Given the description of an element on the screen output the (x, y) to click on. 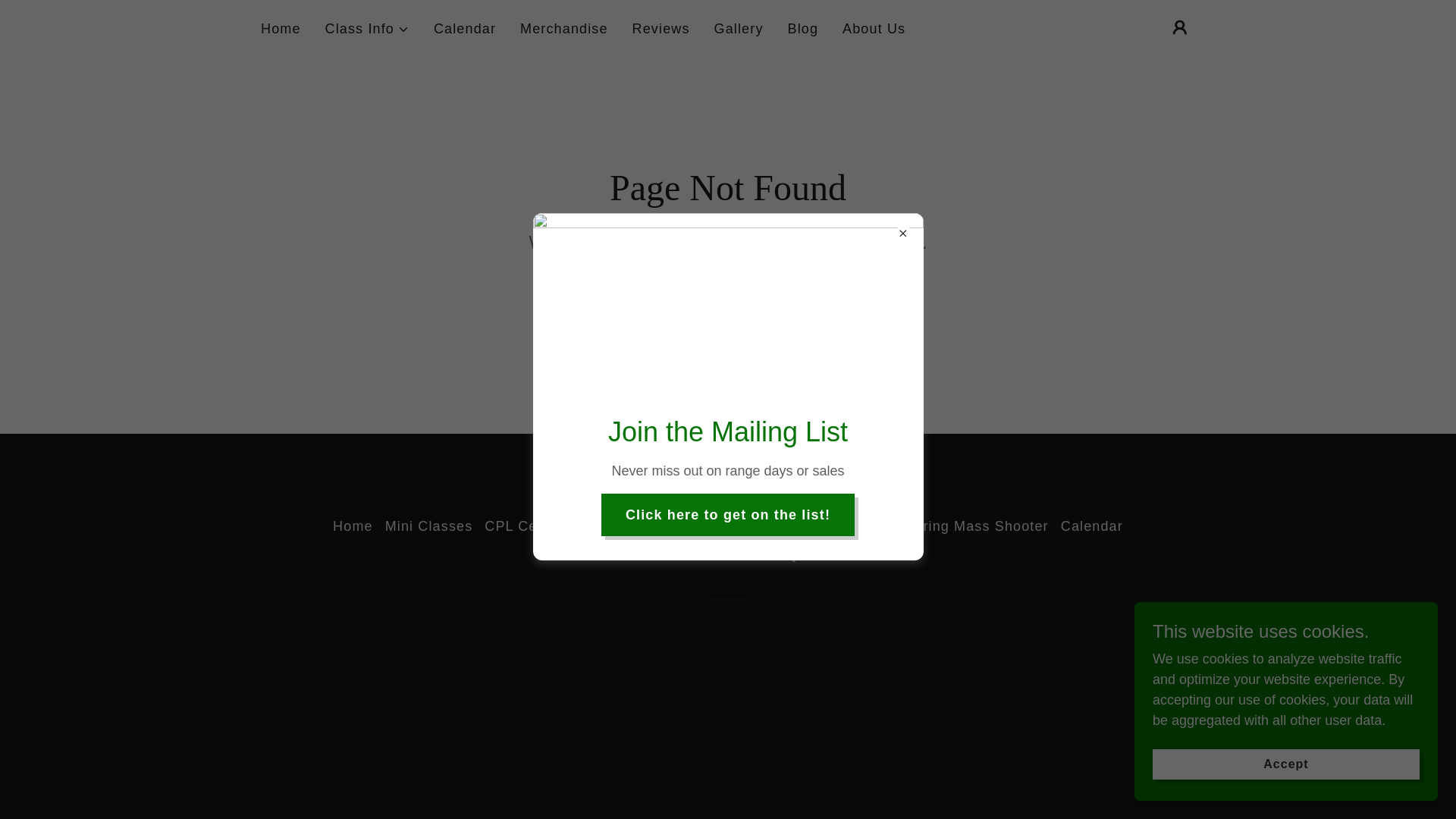
Home (280, 29)
Reviews (660, 29)
Merchandise (563, 29)
Class Info (366, 28)
About Us (874, 29)
Gallery (739, 29)
Blog (803, 29)
Calendar (464, 29)
